Given the description of an element on the screen output the (x, y) to click on. 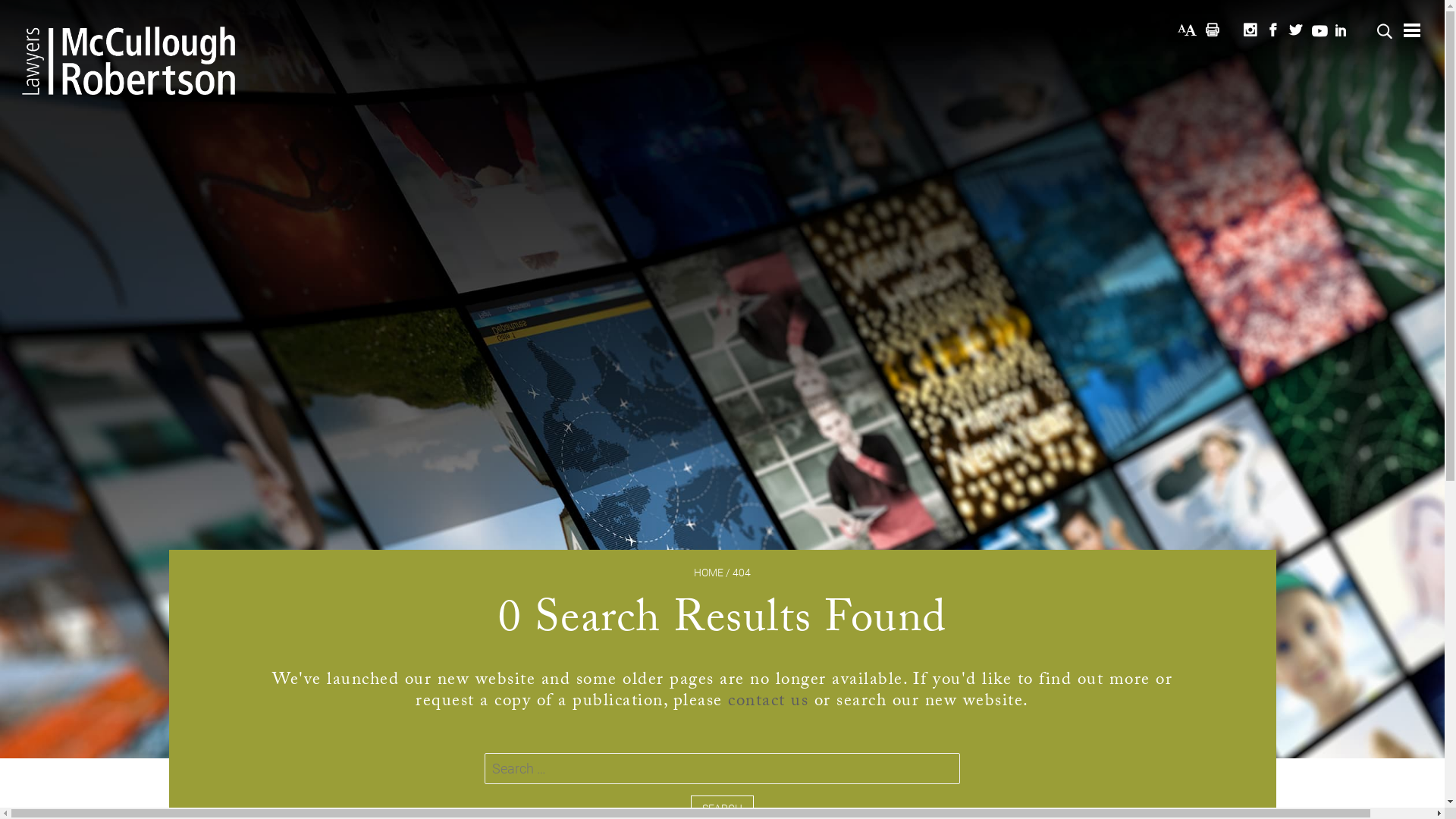
contact us Element type: text (768, 702)
Search Element type: text (26, 9)
HOME Element type: text (708, 572)
